Given the description of an element on the screen output the (x, y) to click on. 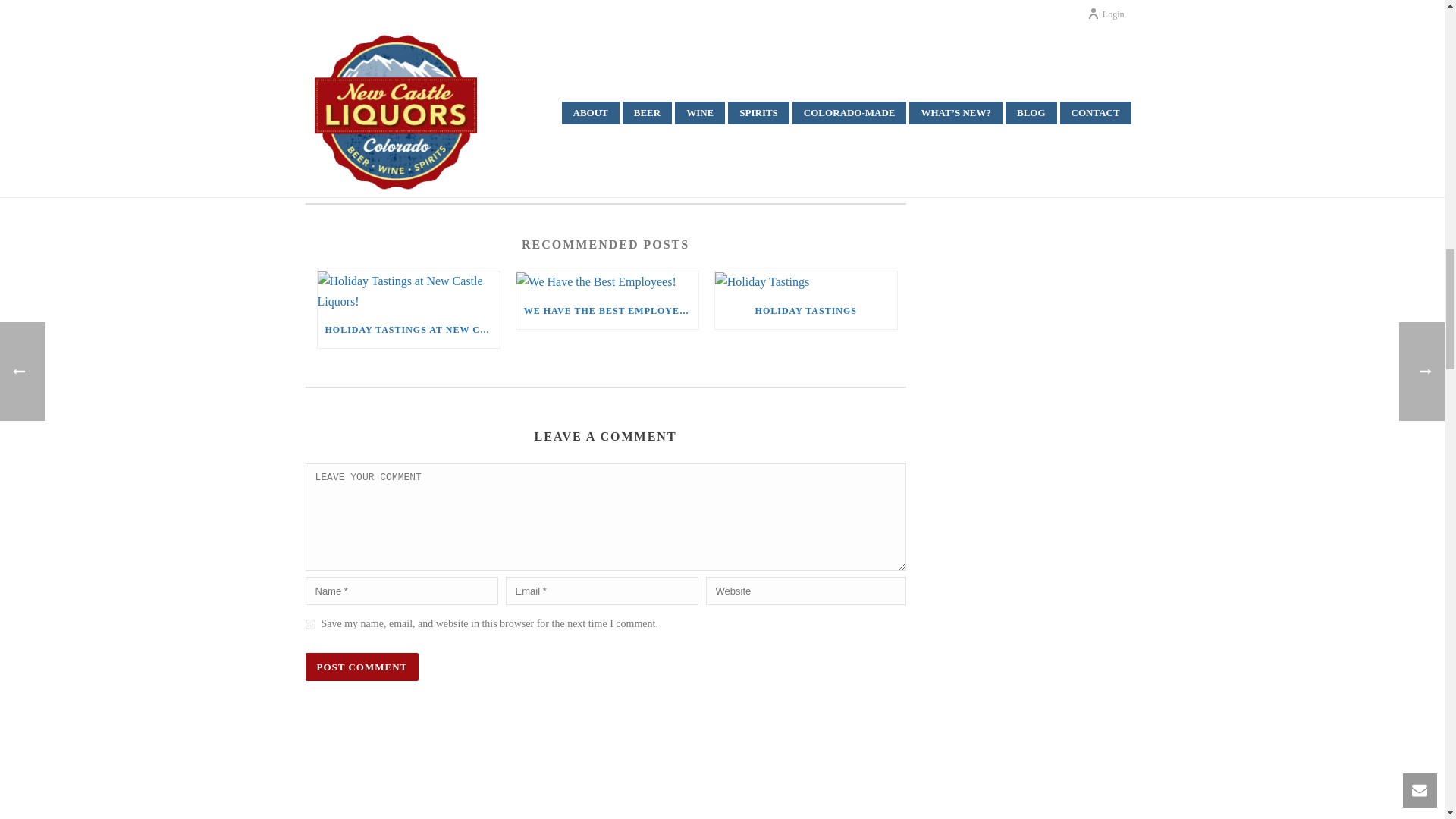
We Have the Best Employees! (607, 281)
Holiday Tastings at New Castle Liquors! (408, 291)
POST COMMENT (361, 666)
yes (309, 624)
Get in touch with me via email (374, 168)
Holiday Tastings (805, 281)
